Given the description of an element on the screen output the (x, y) to click on. 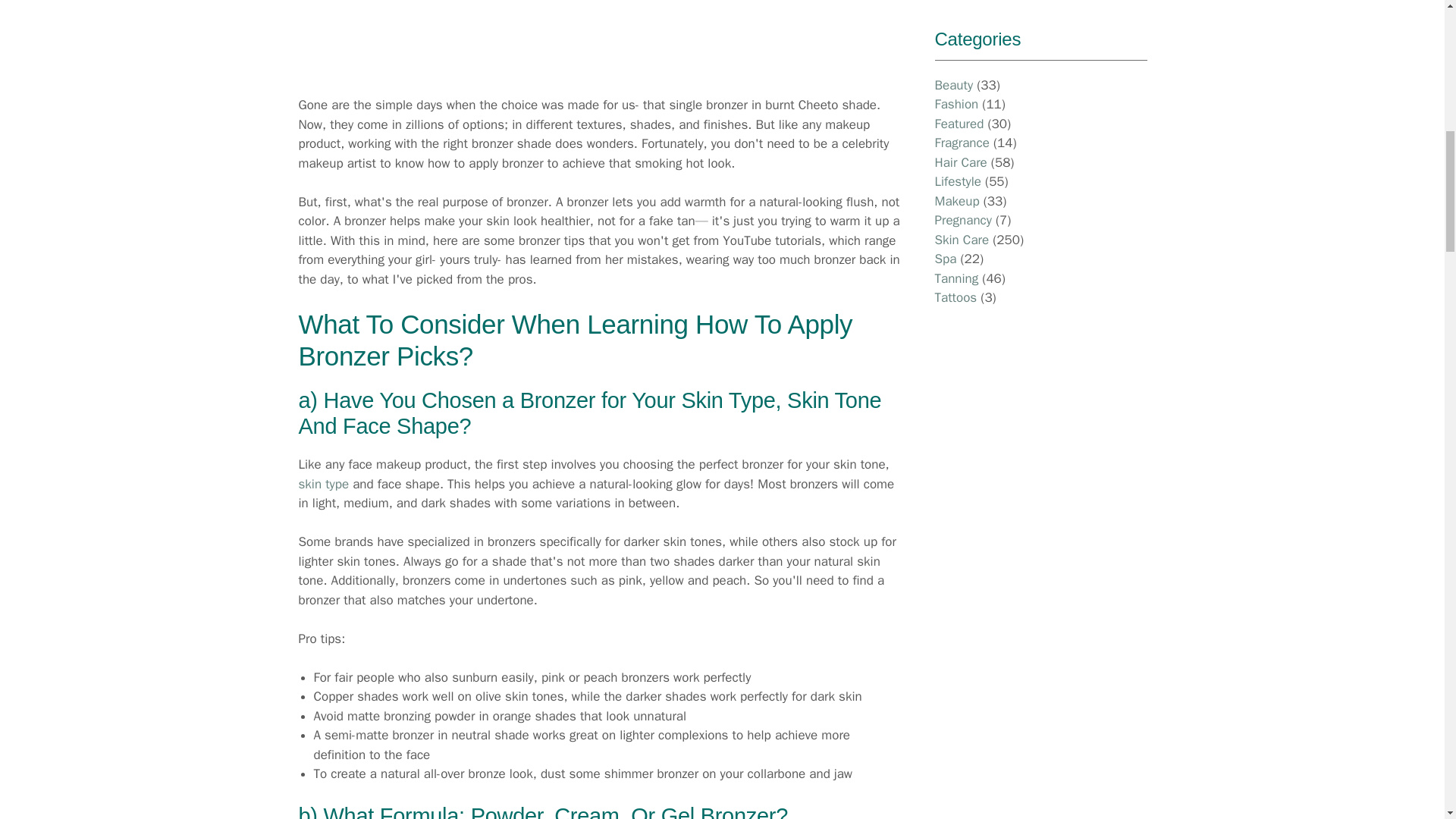
skin type (323, 483)
